Given the description of an element on the screen output the (x, y) to click on. 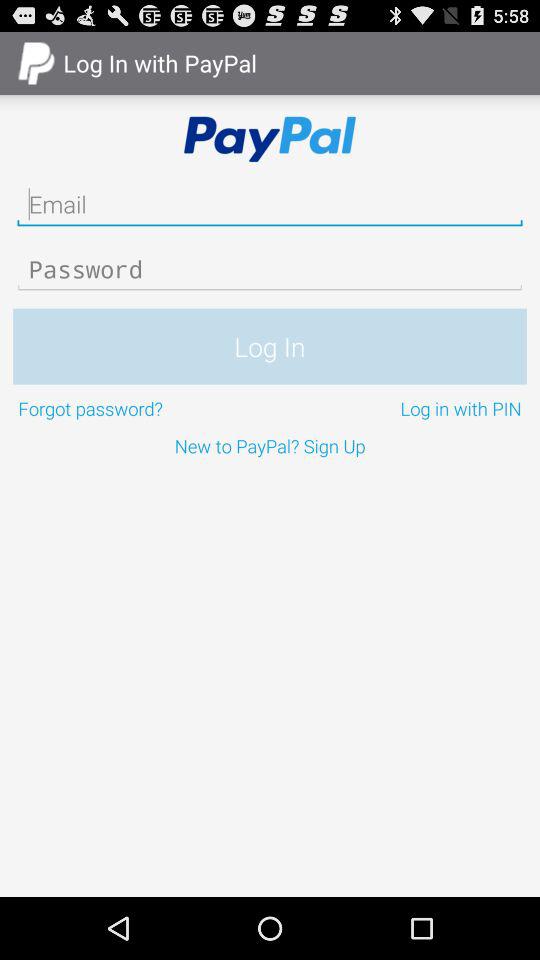
launch the forgot password? on the left (141, 408)
